Given the description of an element on the screen output the (x, y) to click on. 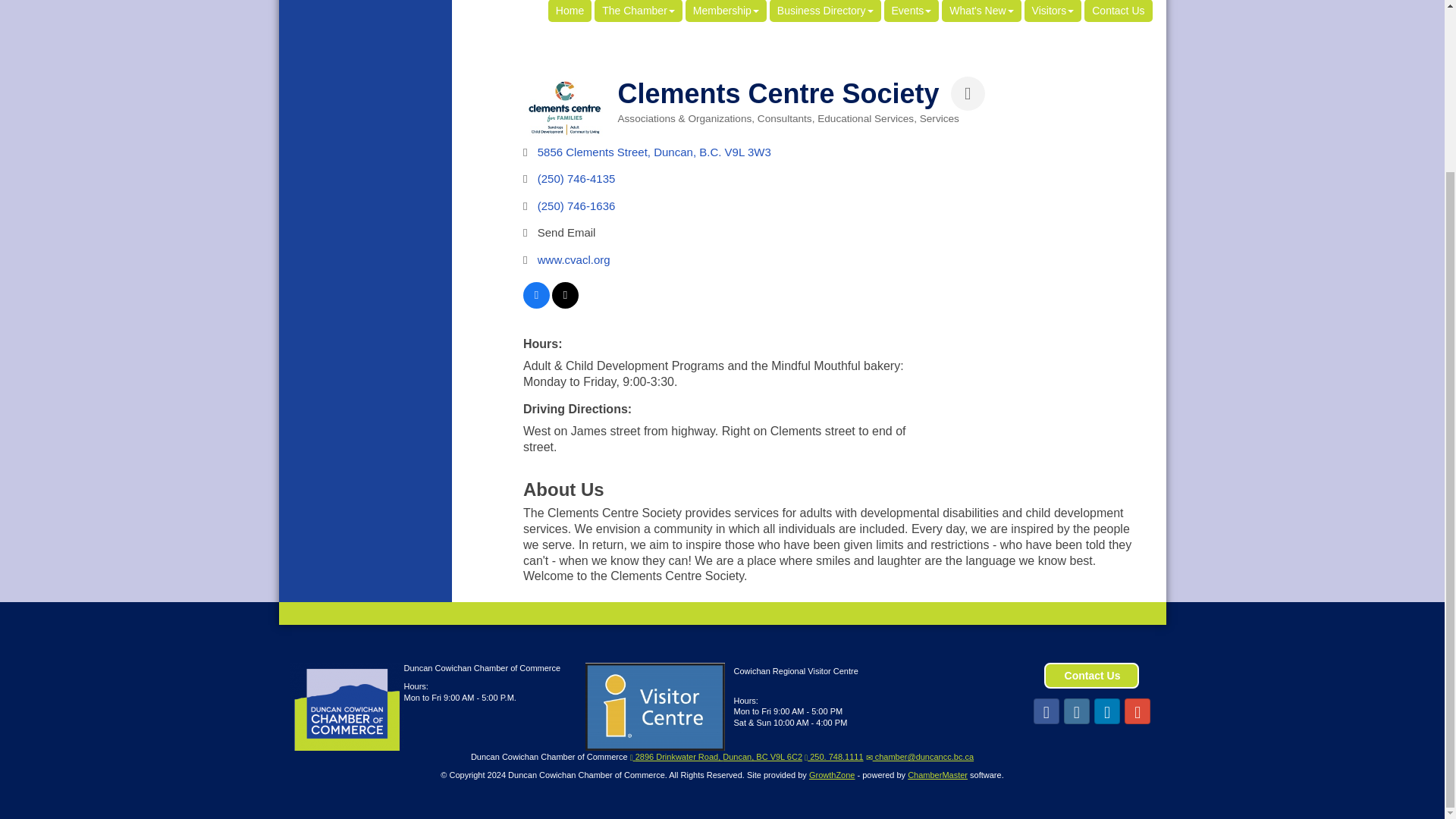
View on Facebook (536, 304)
Icon Link (1137, 710)
Home (569, 11)
Icon Link (1076, 710)
Icon Link (1106, 710)
Contact Us (1117, 11)
Visitors (1053, 11)
Clements Centre Society (563, 107)
What's New (981, 11)
Icon Link (1046, 710)
